Given the description of an element on the screen output the (x, y) to click on. 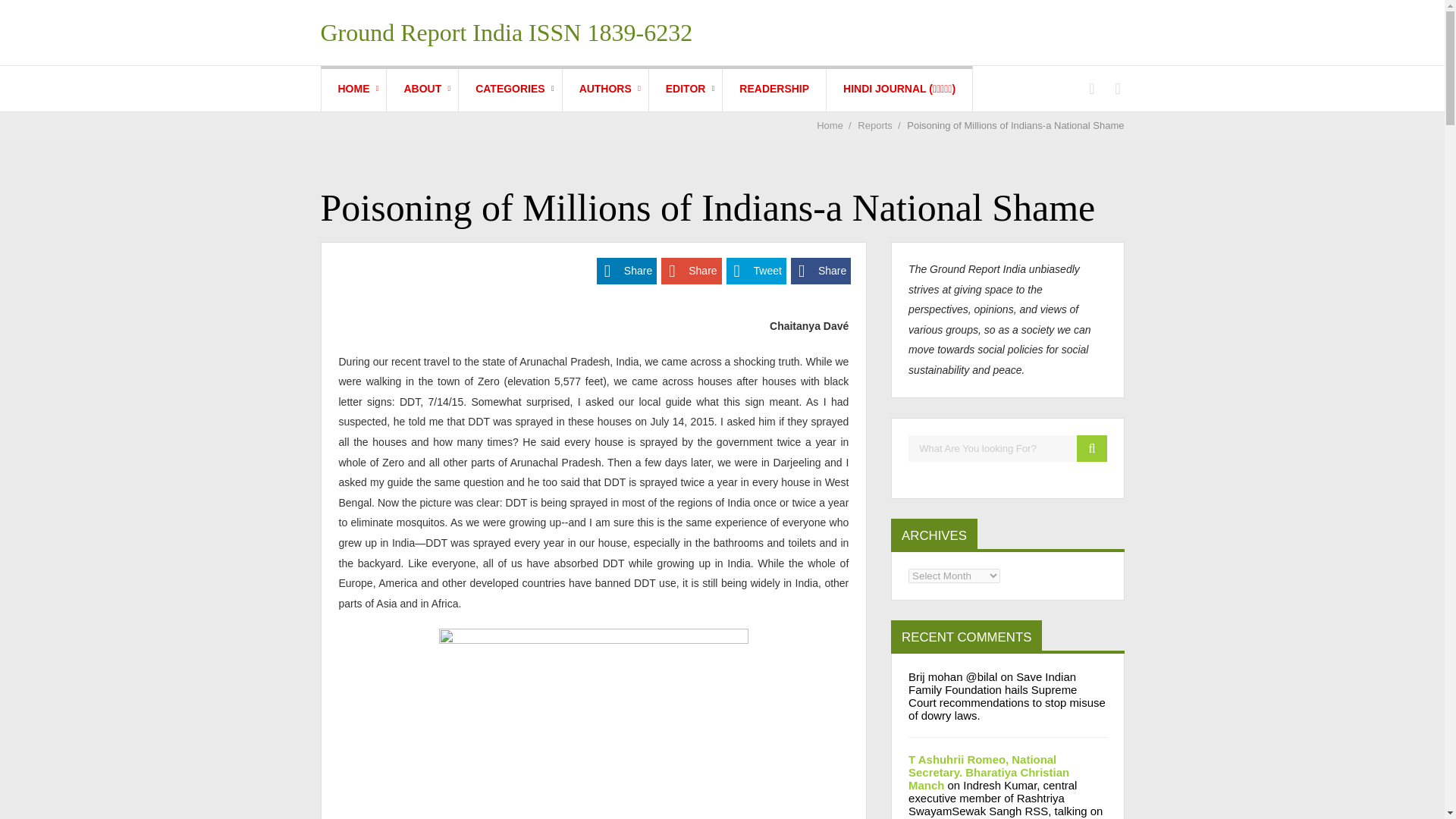
Ground Report India ISSN 1839-6232 (506, 32)
CATEGORIES (509, 88)
ABOUT (422, 88)
200,000 subscribers in around 100 countries (773, 88)
HOME (354, 88)
